Given the description of an element on the screen output the (x, y) to click on. 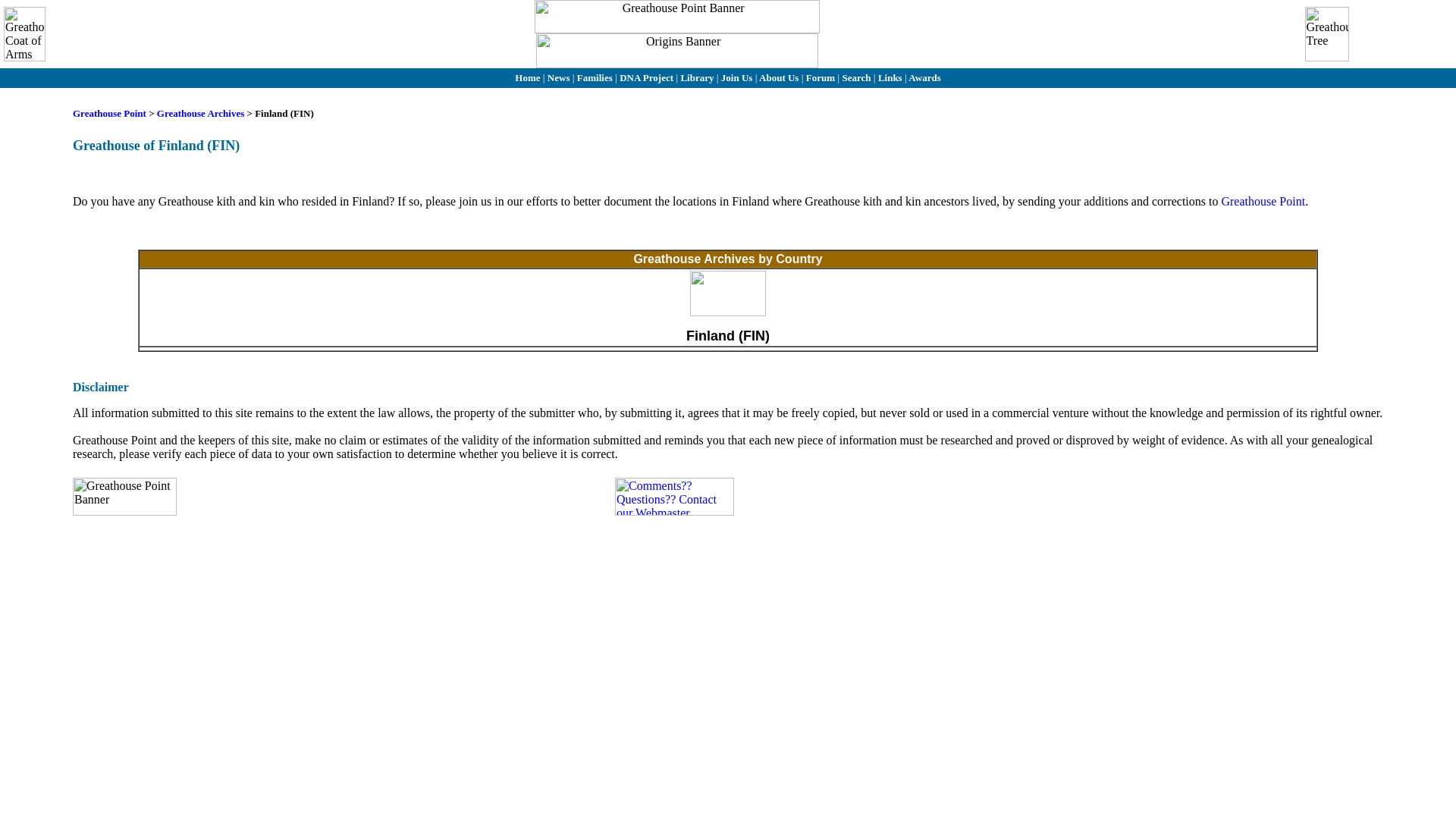
Join Us (737, 77)
Awards (924, 77)
Greathouse Point (109, 112)
Library (696, 77)
Home (527, 77)
Links (889, 77)
Search (855, 77)
DNA Project (647, 77)
Greathouse Point (1262, 201)
Greathouse Archives (202, 112)
